Given the description of an element on the screen output the (x, y) to click on. 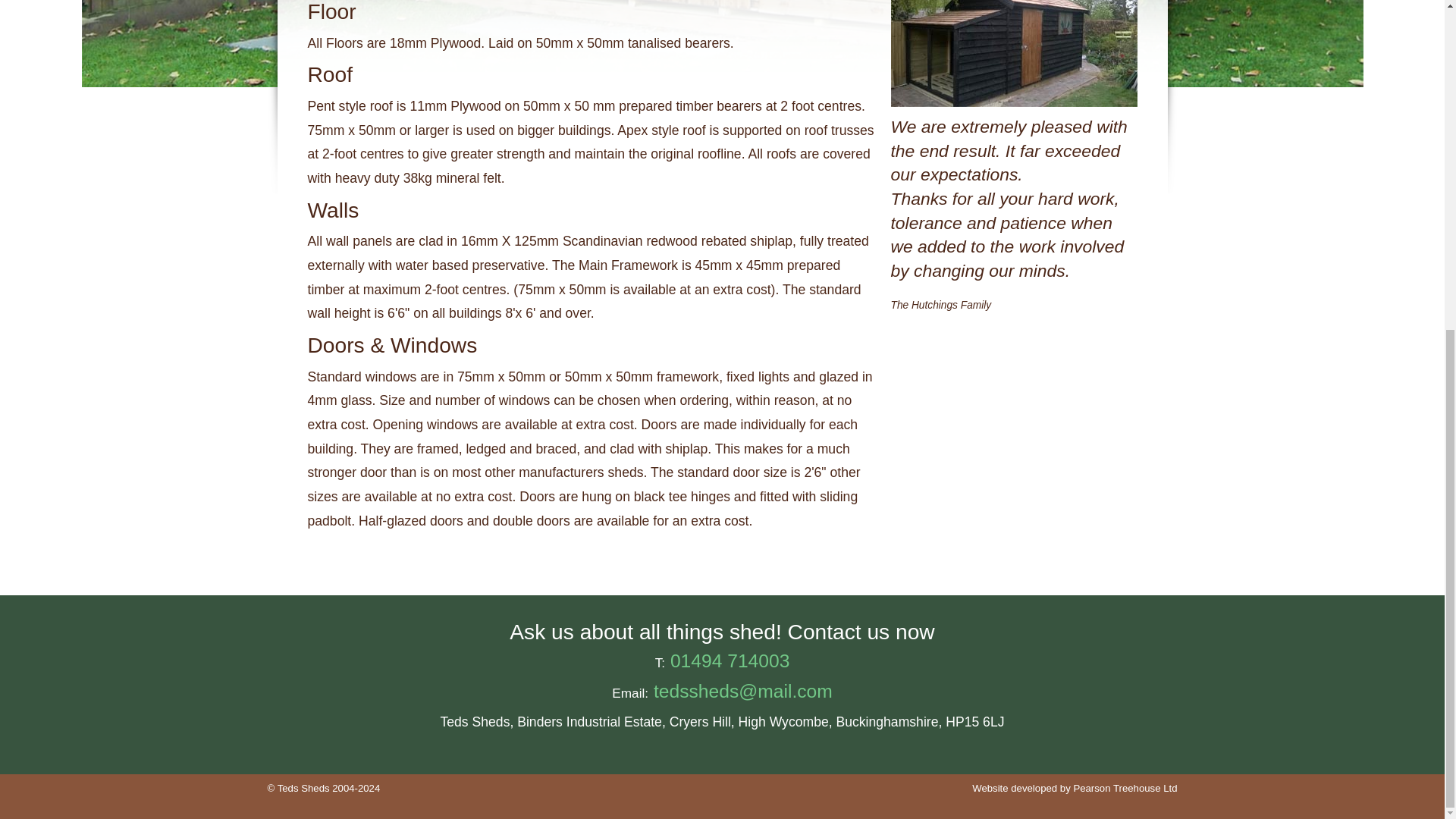
Pearson Treehouse Ltd (1124, 787)
01494 714003 (729, 660)
